Given the description of an element on the screen output the (x, y) to click on. 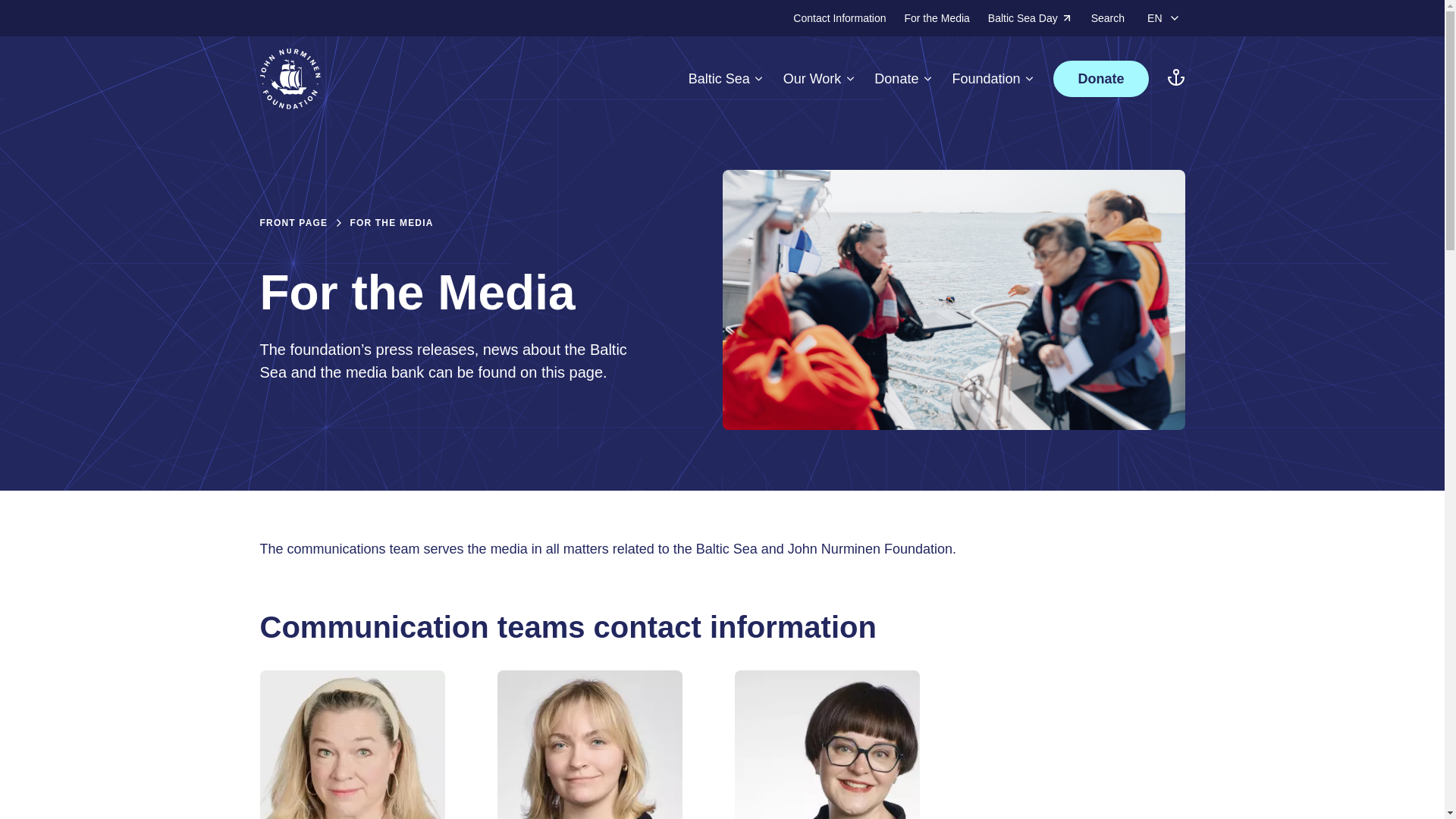
Baltic Sea Day (1030, 18)
Baltic Sea (726, 78)
Contact Information (839, 18)
For the Media (936, 18)
Our Work (820, 78)
Donate (904, 78)
EN (1163, 18)
Search (1107, 18)
Foundation (993, 78)
